Given the description of an element on the screen output the (x, y) to click on. 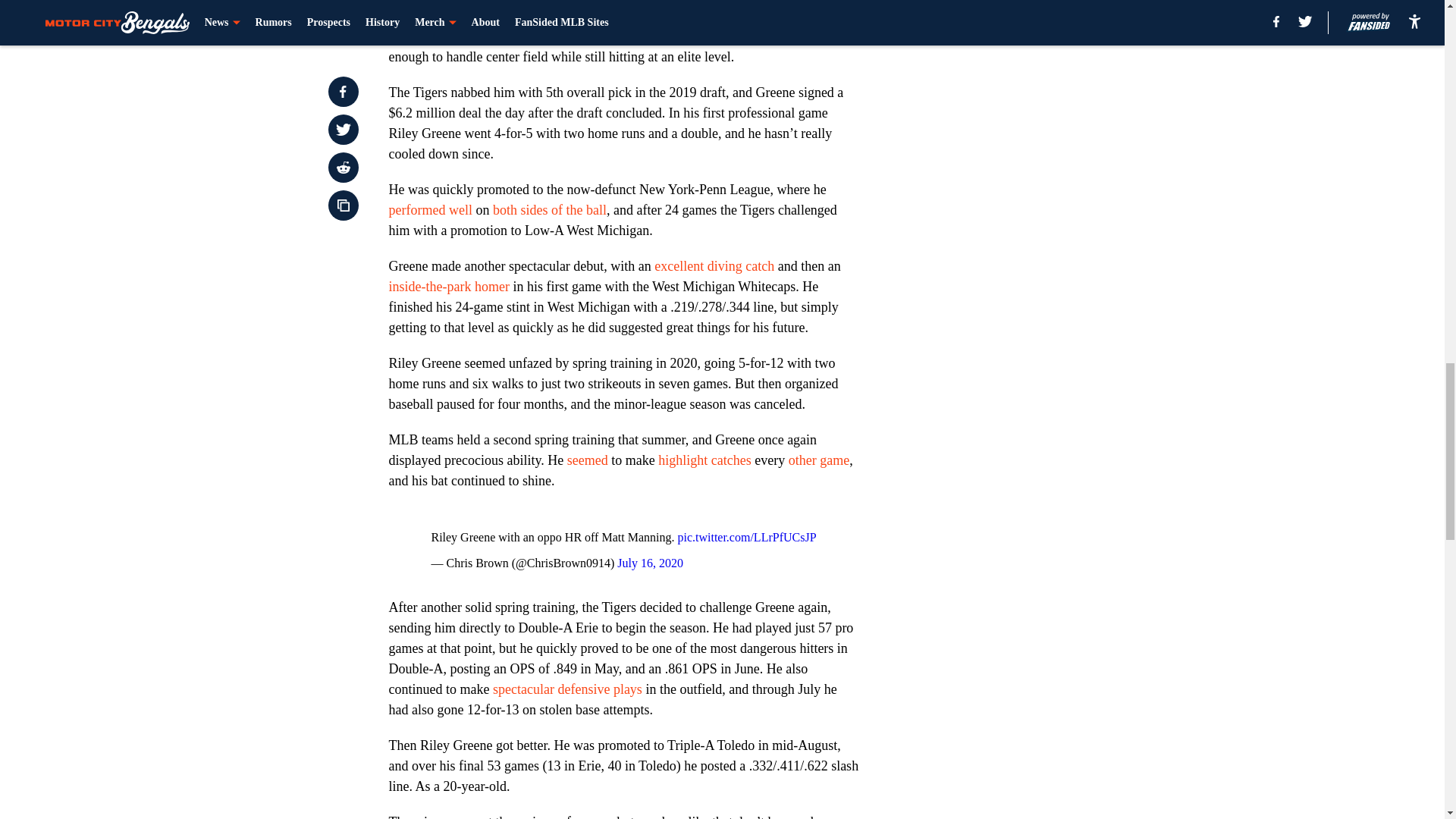
excellent diving catch (713, 265)
both sides of the ball (550, 209)
East Coast Regional Crosschecker (621, 11)
performed well (429, 209)
